Given the description of an element on the screen output the (x, y) to click on. 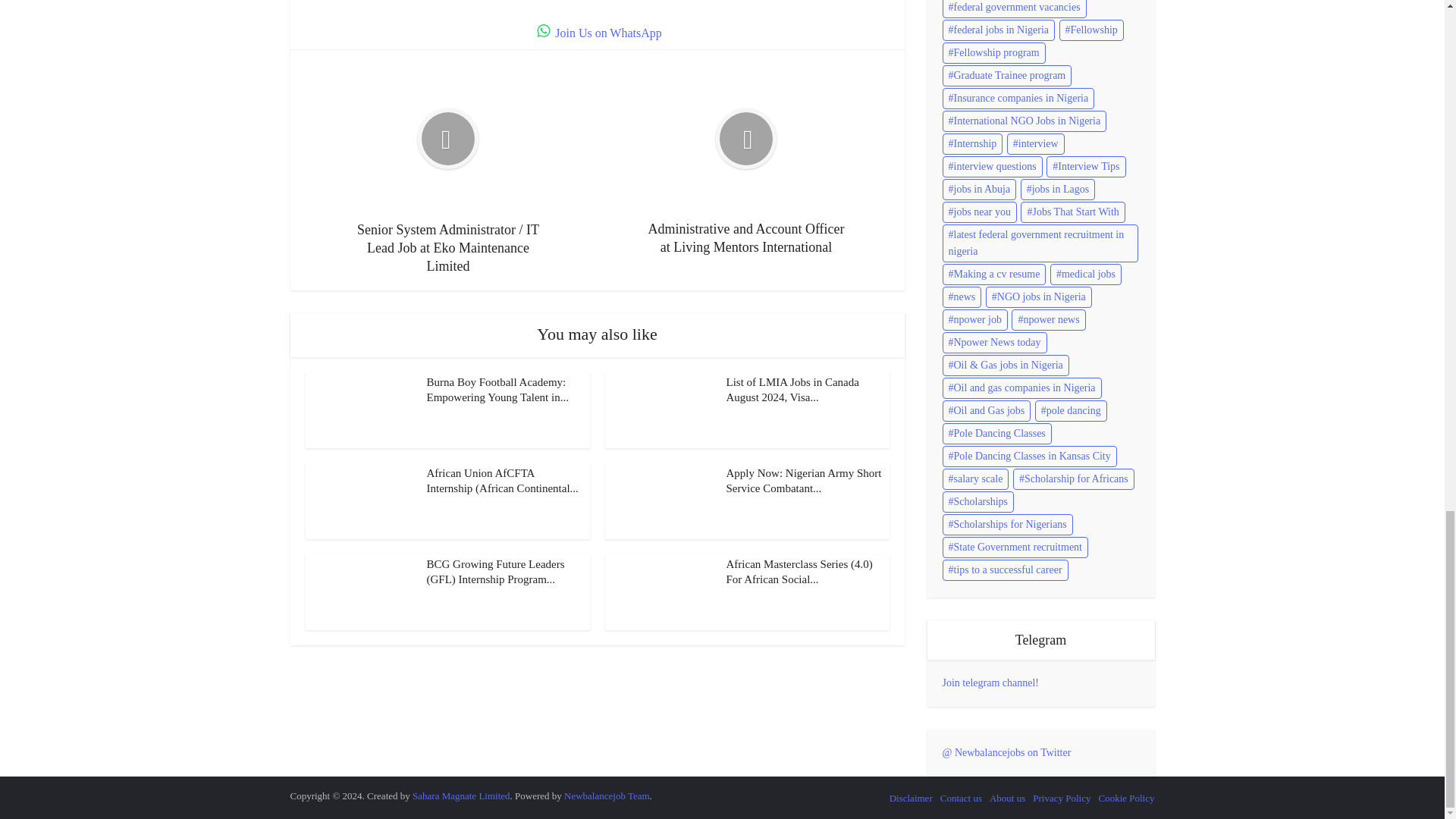
Join Us on WhatsApp (597, 32)
List of LMIA Jobs in Canada August 2024, Visa... (792, 389)
Join Us on WhatsApp (597, 32)
Burna Boy Football Academy: Empowering Young Talent in... (496, 389)
Apply Now: Nigerian Army Short Service Combatant... (804, 480)
